Given the description of an element on the screen output the (x, y) to click on. 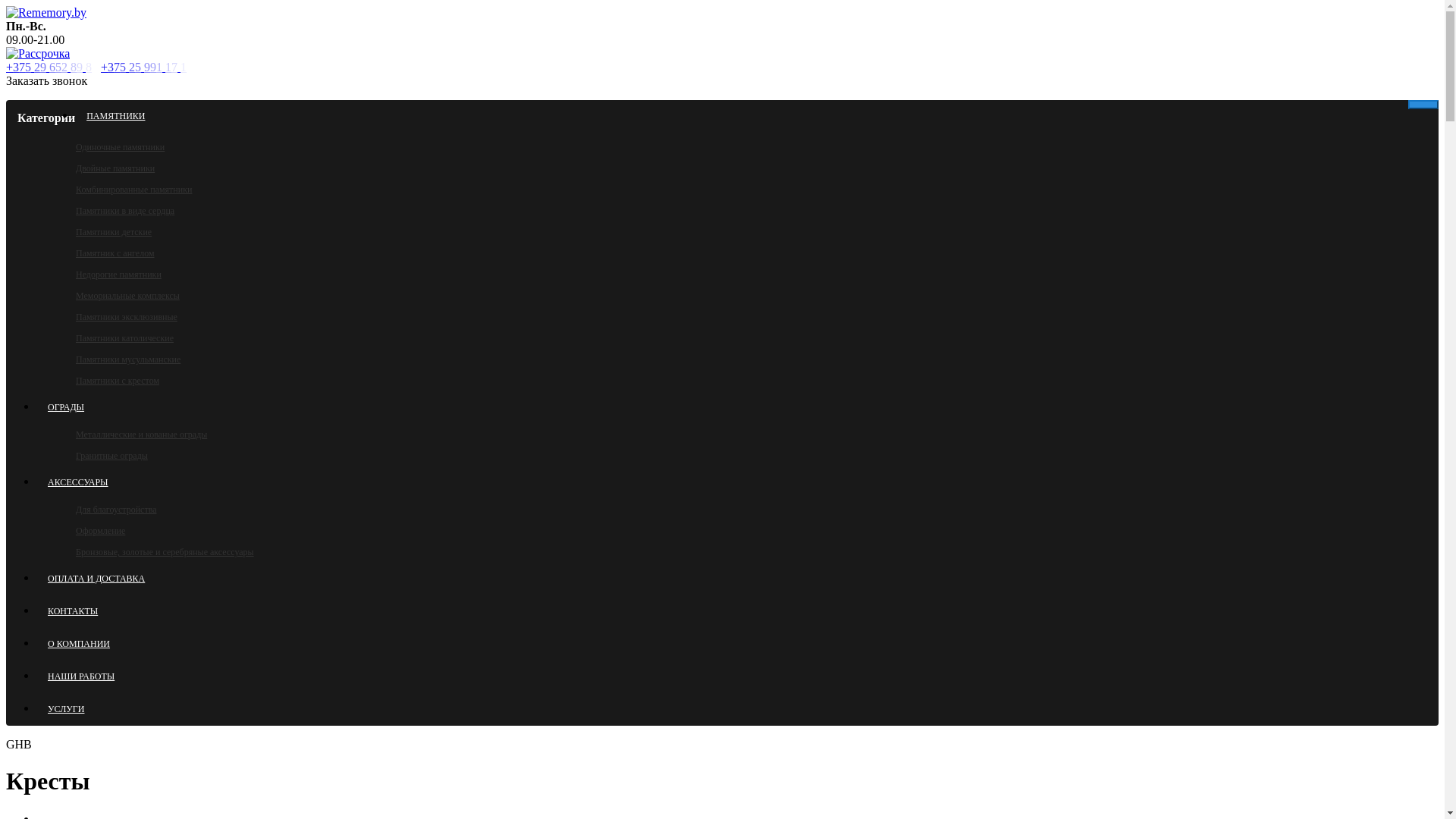
+375 29 652 89 8 Element type: text (51, 66)
+375 25 991 17 1 Element type: text (146, 66)
Rememory.by Element type: hover (46, 12)
